Given the description of an element on the screen output the (x, y) to click on. 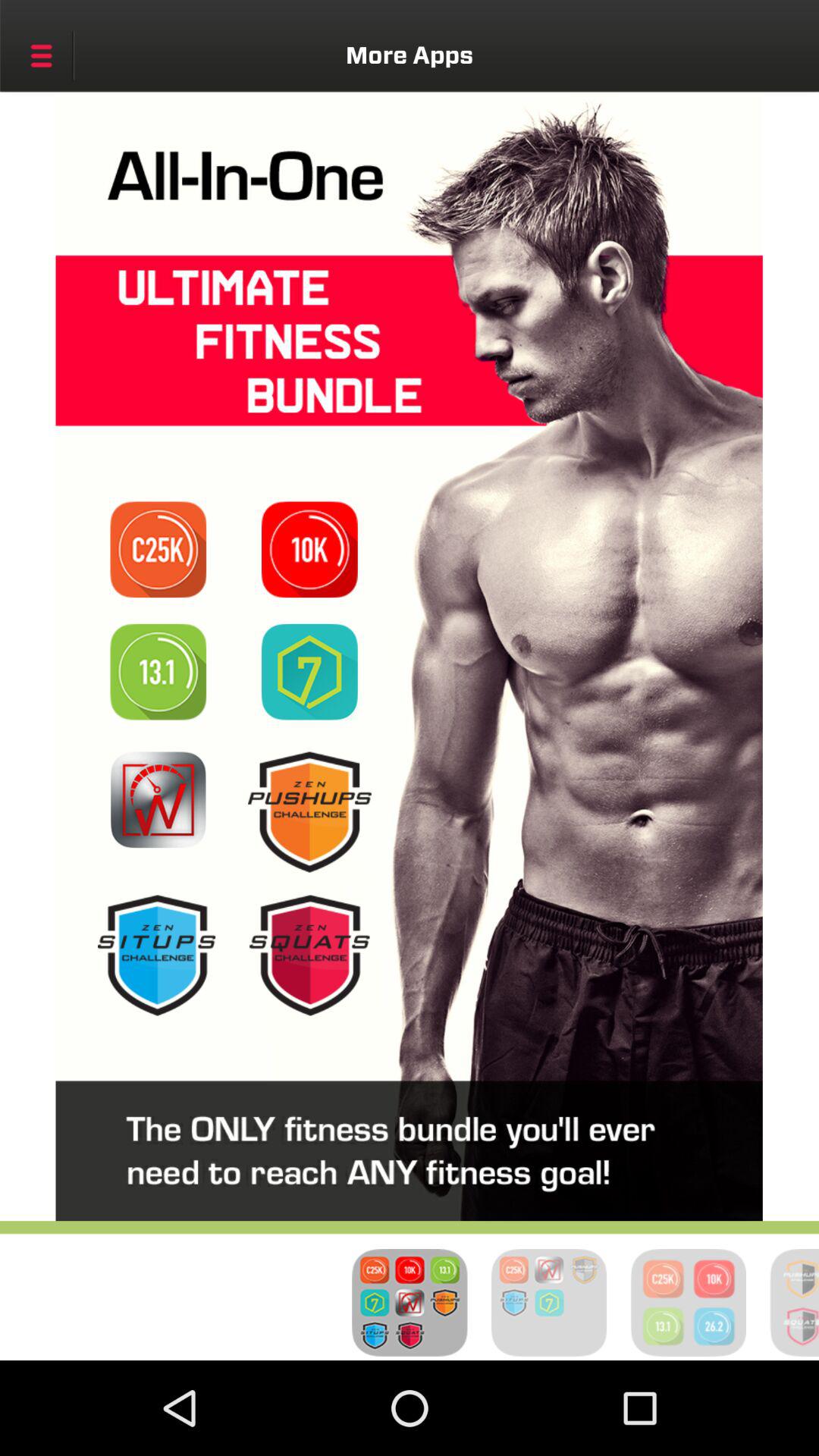
select field (309, 549)
